Given the description of an element on the screen output the (x, y) to click on. 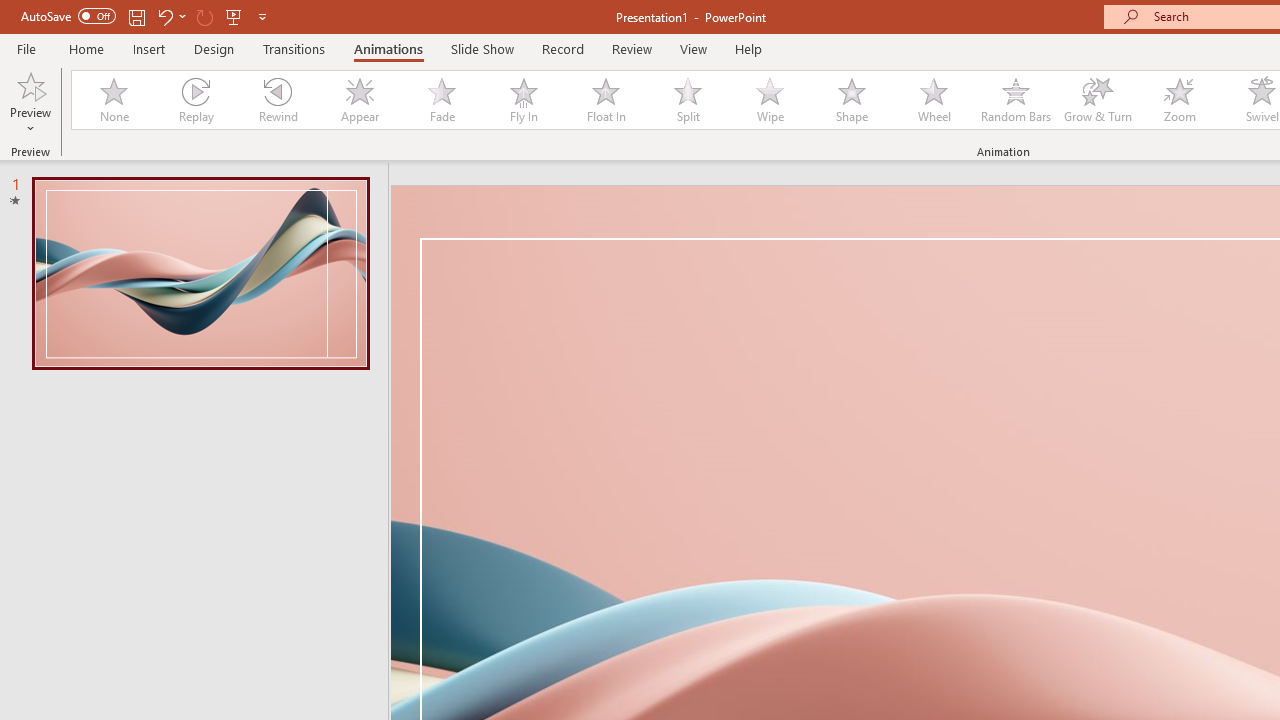
Fade (441, 100)
Replay (195, 100)
Wipe (770, 100)
